Given the description of an element on the screen output the (x, y) to click on. 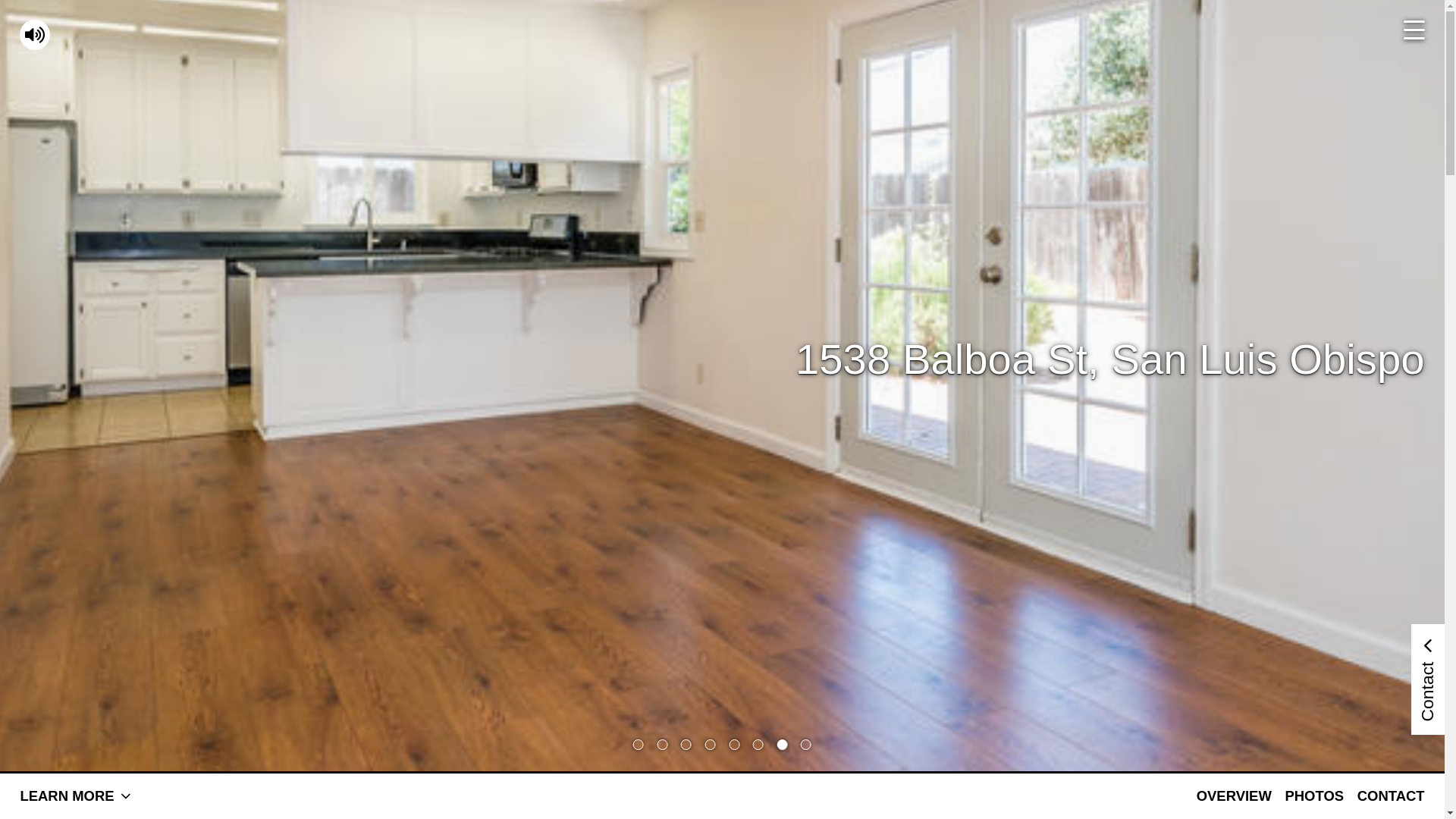
OVERVIEW Element type: text (1233, 796)
CONTACT Element type: text (1390, 796)
PHOTOS Element type: text (1313, 796)
